Given the description of an element on the screen output the (x, y) to click on. 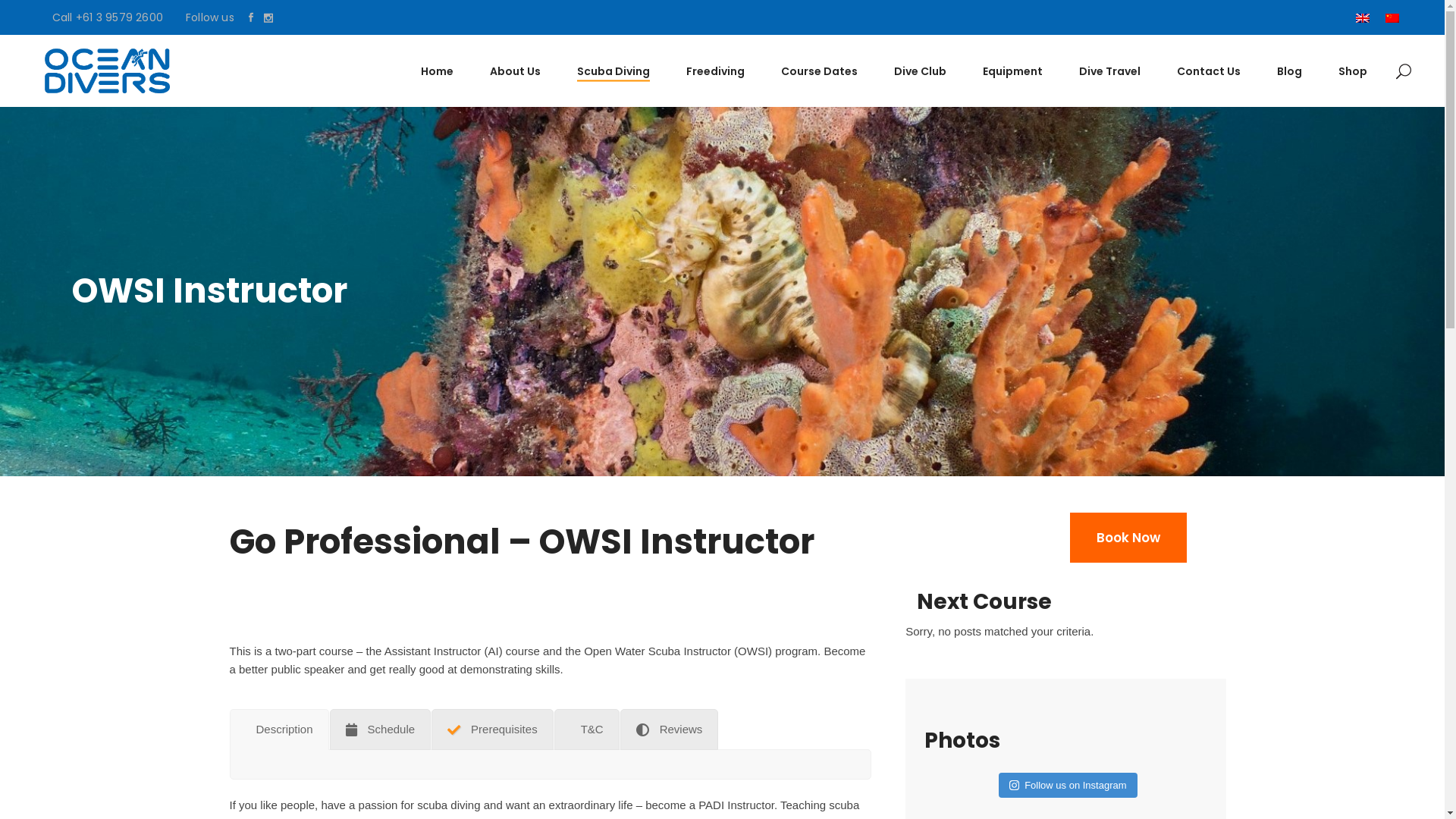
Reviews Element type: text (669, 729)
Schedule Element type: text (380, 729)
Course Dates Element type: text (818, 70)
Blog Element type: text (1289, 70)
Call +61 3 9579 2600 Element type: text (107, 17)
About Us Element type: text (514, 70)
Equipment Element type: text (1012, 70)
Scuba Diving Element type: text (613, 70)
Book Now Element type: text (1128, 537)
Prerequisites Element type: text (492, 729)
Home Element type: text (436, 70)
English Element type: hover (1364, 17)
Shop Element type: text (1352, 70)
Freediving Element type: text (715, 70)
Contact Us Element type: text (1208, 70)
Description Element type: text (278, 729)
Dive Club Element type: text (919, 70)
Dive Travel Element type: text (1109, 70)
T&C Element type: text (586, 729)
Follow us on Instagram Element type: text (1067, 785)
